Given the description of an element on the screen output the (x, y) to click on. 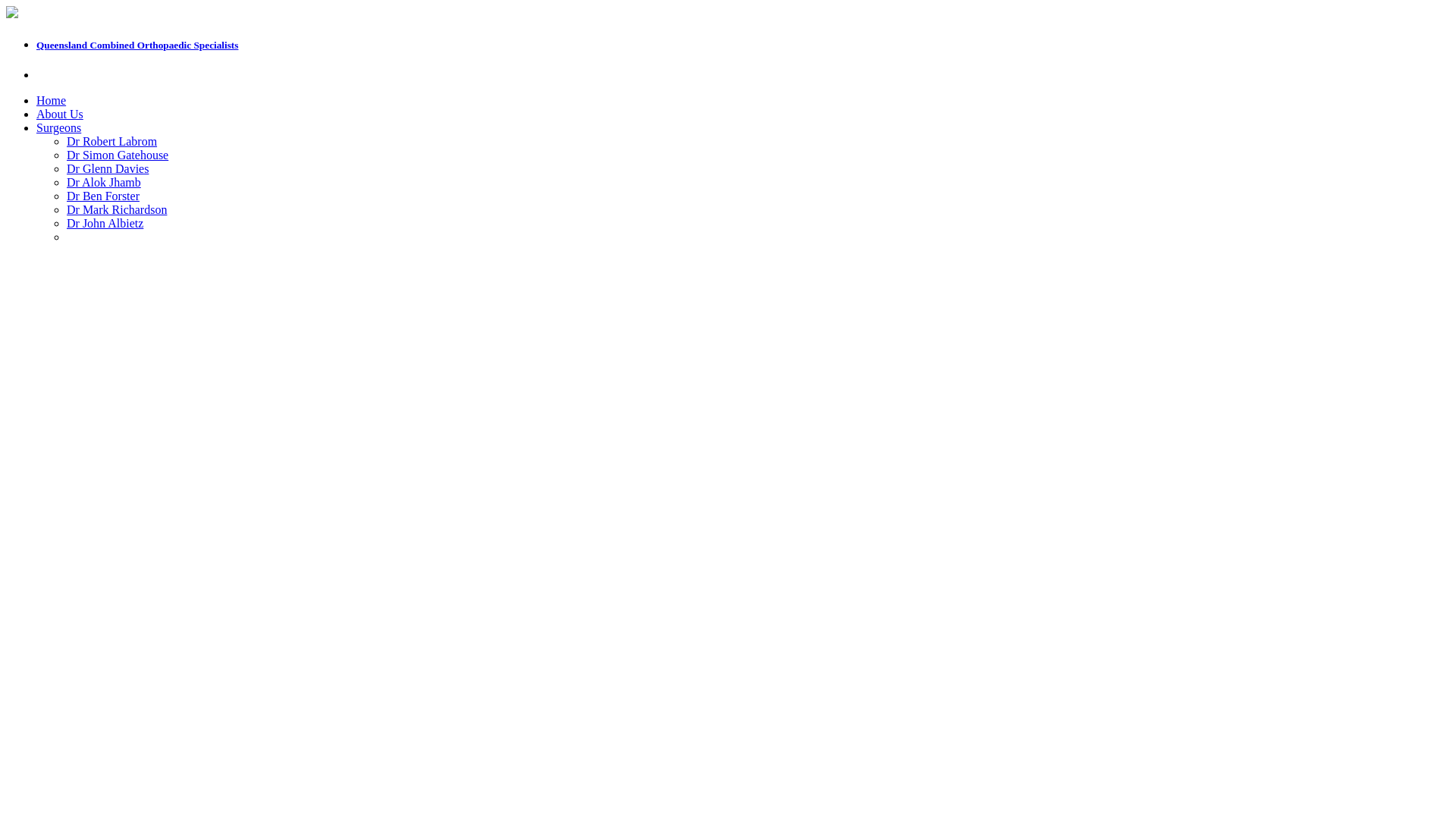
Dr Robert Labrom Element type: text (111, 140)
Dr Simon Gatehouse Element type: text (117, 154)
Surgeons Element type: text (58, 127)
Dr Mark Richardson Element type: text (116, 209)
About Us Element type: text (59, 113)
Queensland Combined Orthopaedic Specialists Element type: text (137, 44)
Dr Alok Jhamb Element type: text (103, 181)
Home Element type: text (50, 100)
Dr Glenn Davies Element type: text (107, 168)
Dr John Albietz Element type: text (104, 222)
Dr Ben Forster Element type: text (102, 195)
